Given the description of an element on the screen output the (x, y) to click on. 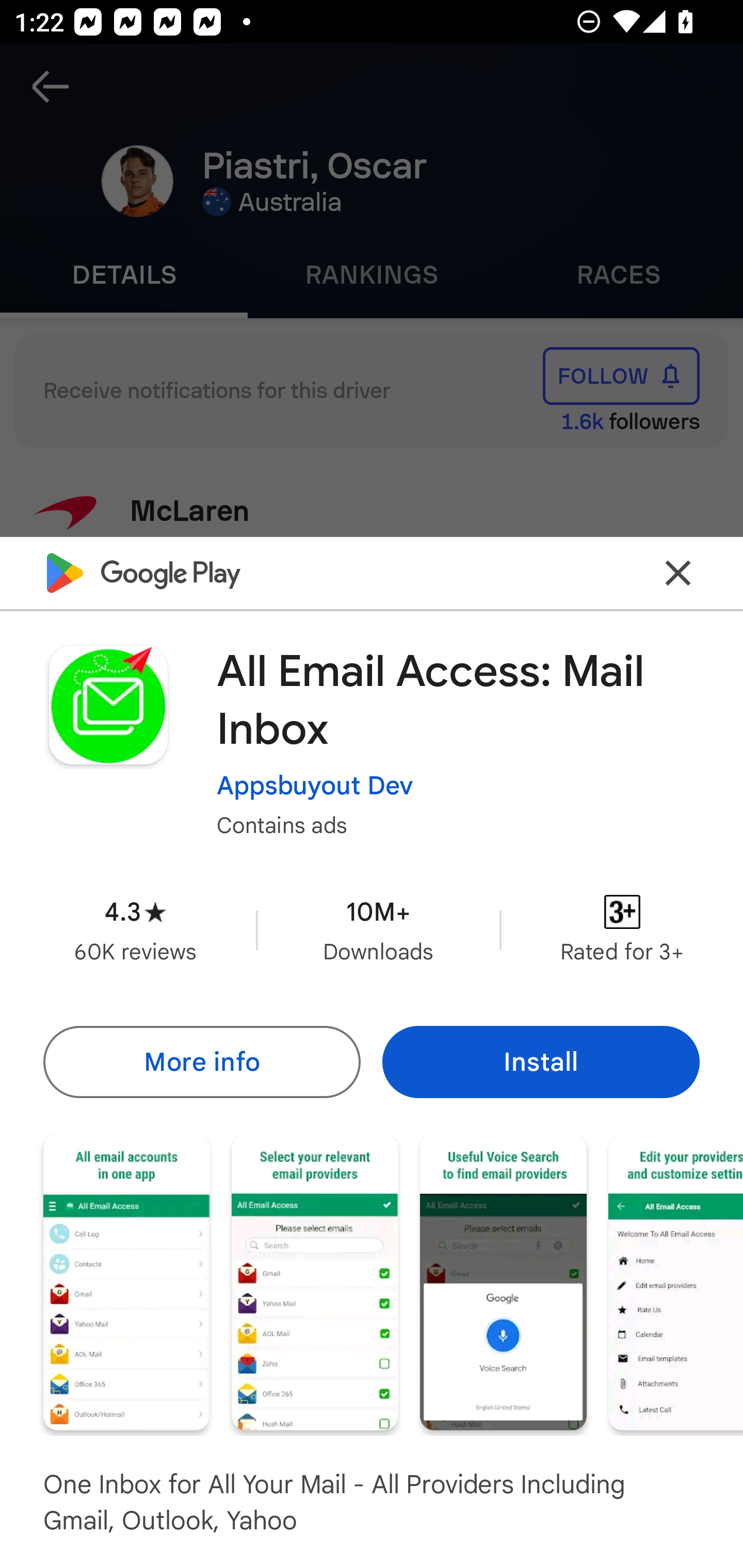
Close (677, 572)
Appsbuyout Dev (314, 784)
More info (201, 1061)
Install (540, 1061)
Screenshot "1" of "7" (126, 1281)
Screenshot "2" of "7" (314, 1281)
Screenshot "3" of "7" (502, 1281)
Screenshot "4" of "7" (675, 1281)
